Given the description of an element on the screen output the (x, y) to click on. 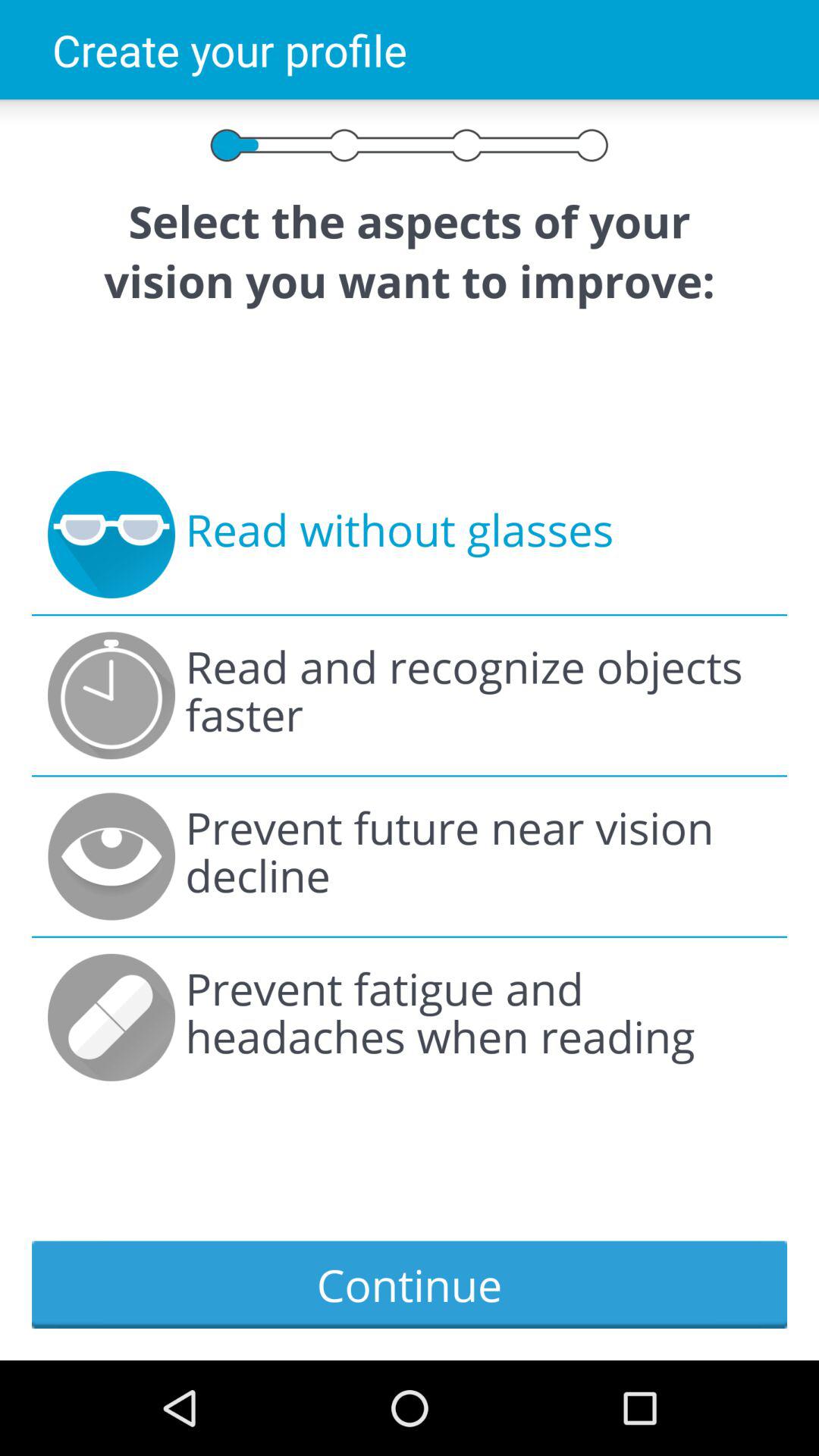
scroll to read without glasses (399, 534)
